Given the description of an element on the screen output the (x, y) to click on. 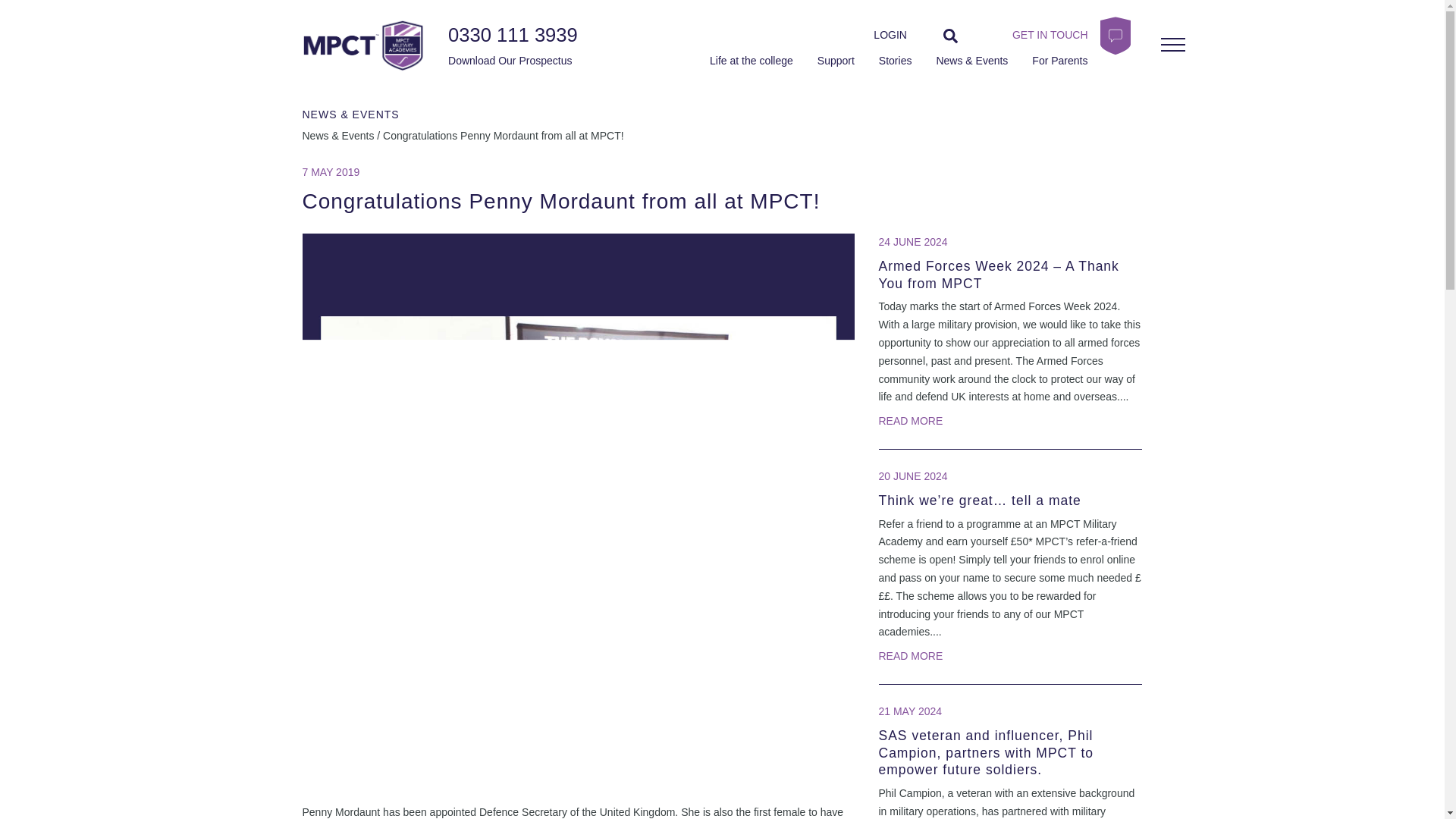
Support (835, 60)
0330 111 3939 (513, 34)
Stories (895, 60)
For Parents (1059, 60)
Life at the college (751, 60)
LOGIN (890, 35)
Download Our Prospectus (507, 61)
GET IN TOUCH (1040, 35)
